Given the description of an element on the screen output the (x, y) to click on. 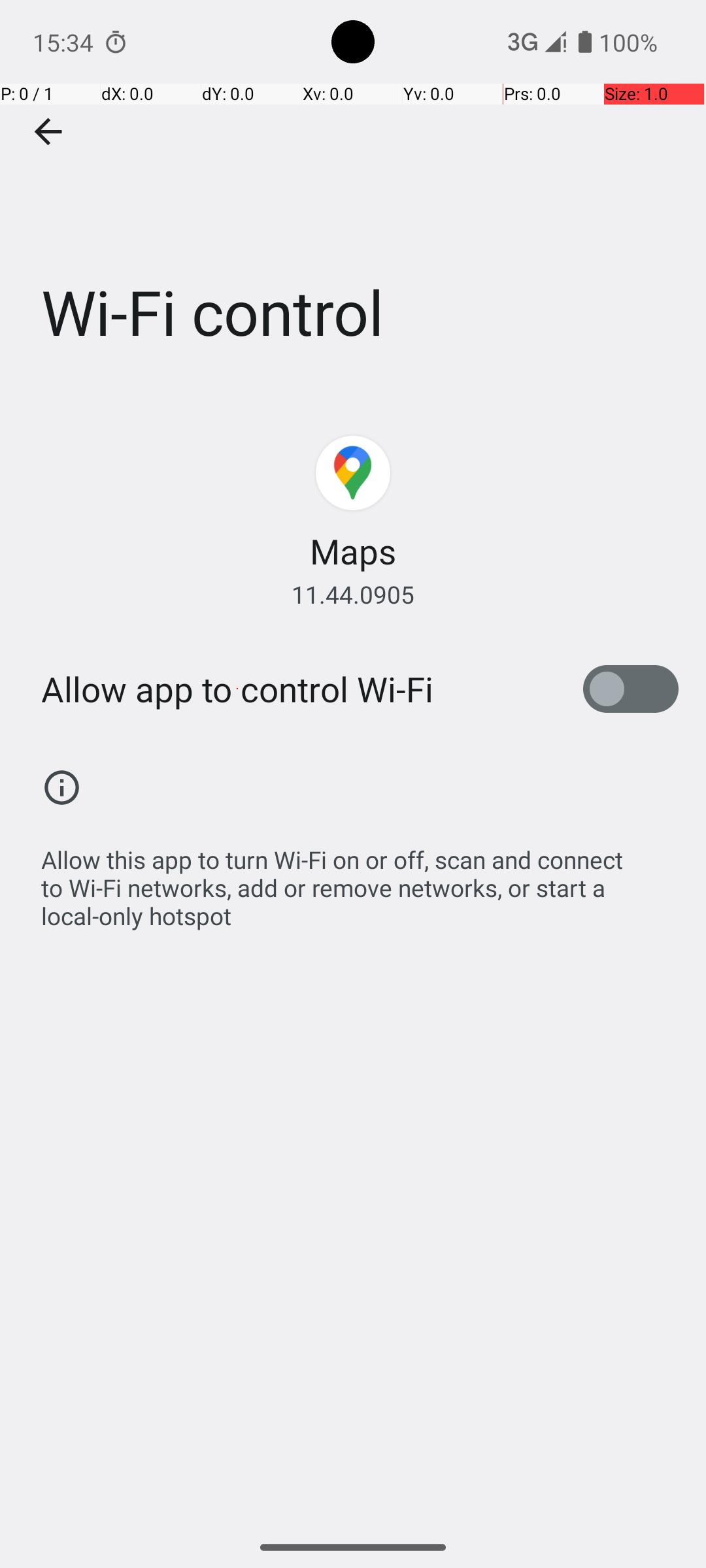
Wi-Fi control Element type: android.widget.FrameLayout (353, 195)
Maps Element type: android.widget.TextView (352, 550)
11.44.0905 Element type: android.widget.TextView (352, 593)
Allow app to control Wi-Fi Element type: android.widget.TextView (237, 688)
Allow this app to turn Wi-Fi on or off, scan and connect to Wi-Fi networks, add or remove networks, or start a local-only hotspot Element type: android.widget.TextView (359, 880)
